Given the description of an element on the screen output the (x, y) to click on. 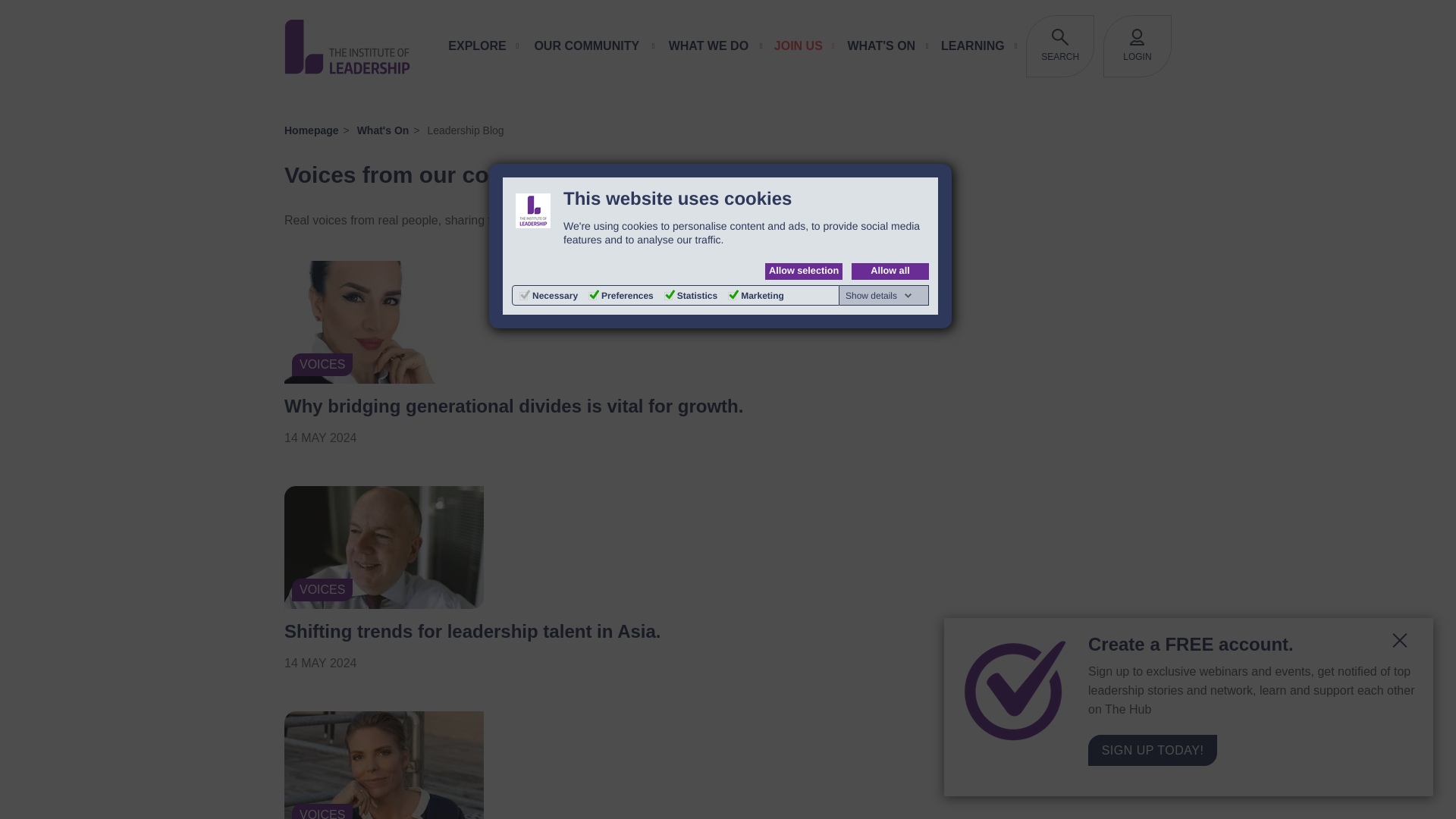
Allow selection (804, 271)
Show details (879, 295)
Allow all (889, 271)
